Given the description of an element on the screen output the (x, y) to click on. 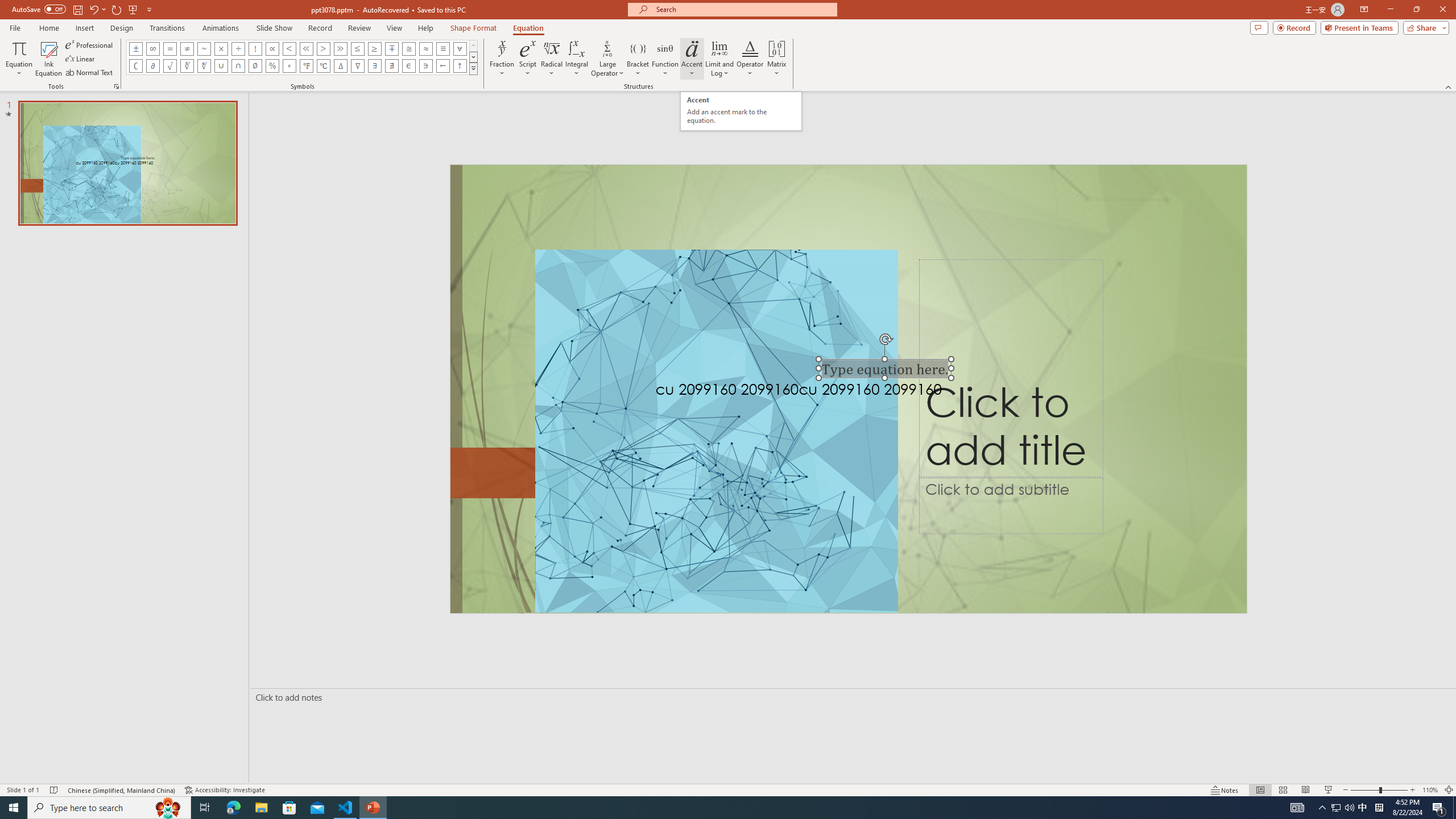
Equation Symbol There Does Not Exist (391, 65)
Equation Symbol Increment (340, 65)
Equation Symbol Complement (136, 65)
Equation Symbol Percentage (272, 65)
Zoom 110% (1430, 790)
Ink Equation (48, 58)
Equation Symbol Greater Than (322, 48)
Operator (749, 58)
